Given the description of an element on the screen output the (x, y) to click on. 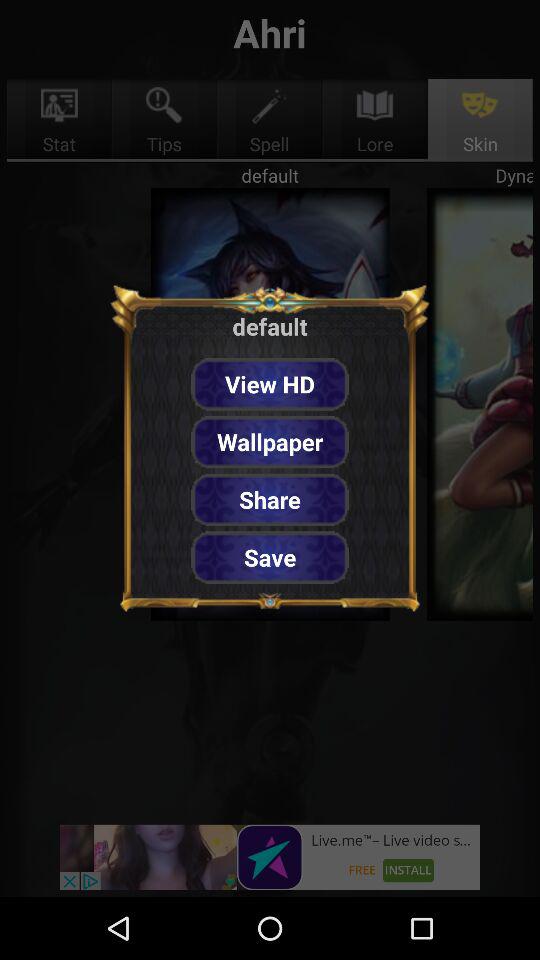
scroll to view hd (269, 384)
